Given the description of an element on the screen output the (x, y) to click on. 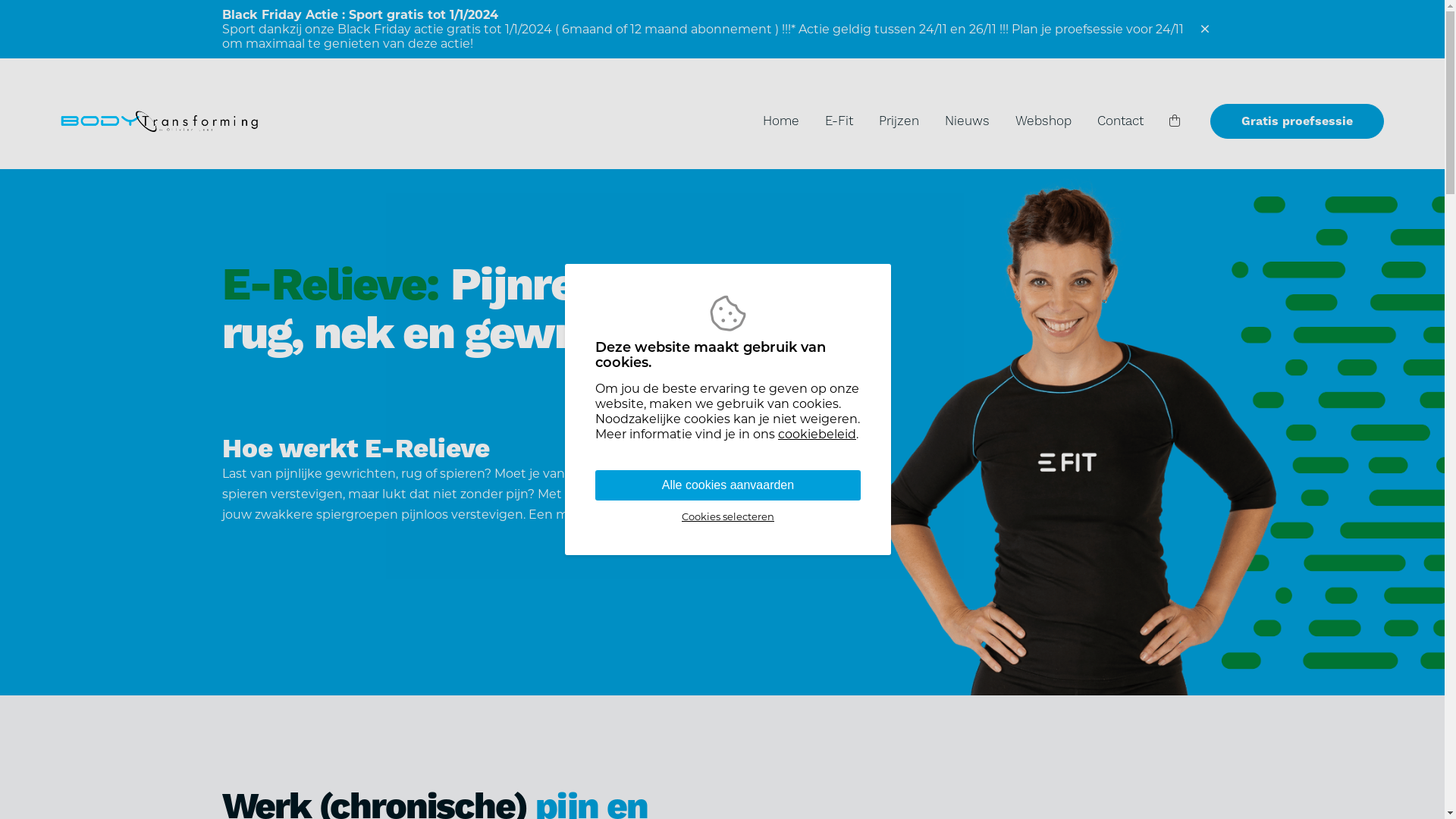
Webshop Element type: text (1043, 122)
Contact Element type: text (1120, 122)
Nieuws Element type: text (966, 122)
Home Element type: text (780, 122)
cookiebeleid Element type: text (817, 433)
Prijzen Element type: text (898, 122)
Gratis proefsessie Element type: text (1296, 120)
Alle cookies aanvaarden Element type: text (727, 485)
E-Fit Element type: text (839, 122)
